Given the description of an element on the screen output the (x, y) to click on. 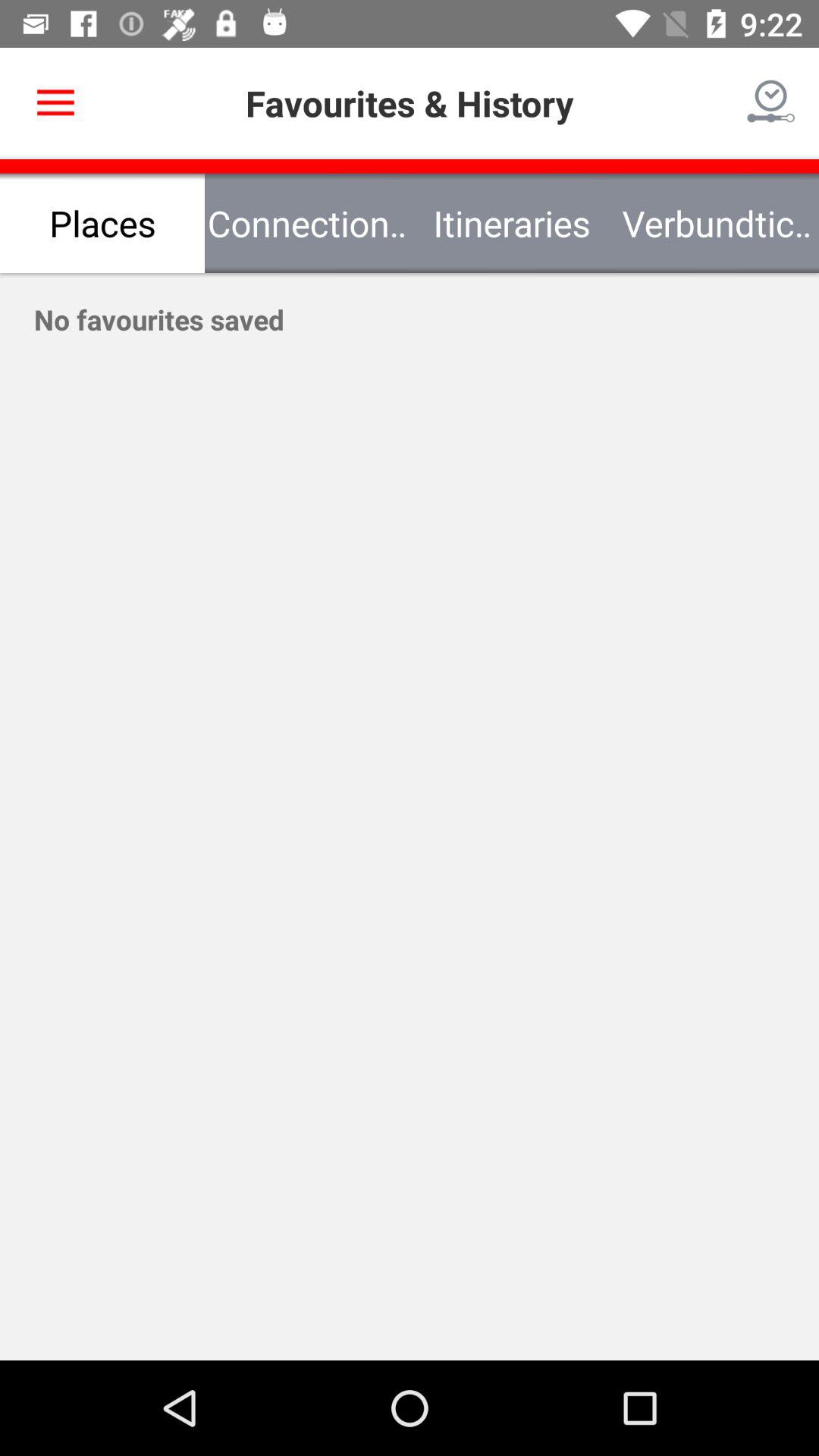
launch verbundtickets (716, 223)
